Given the description of an element on the screen output the (x, y) to click on. 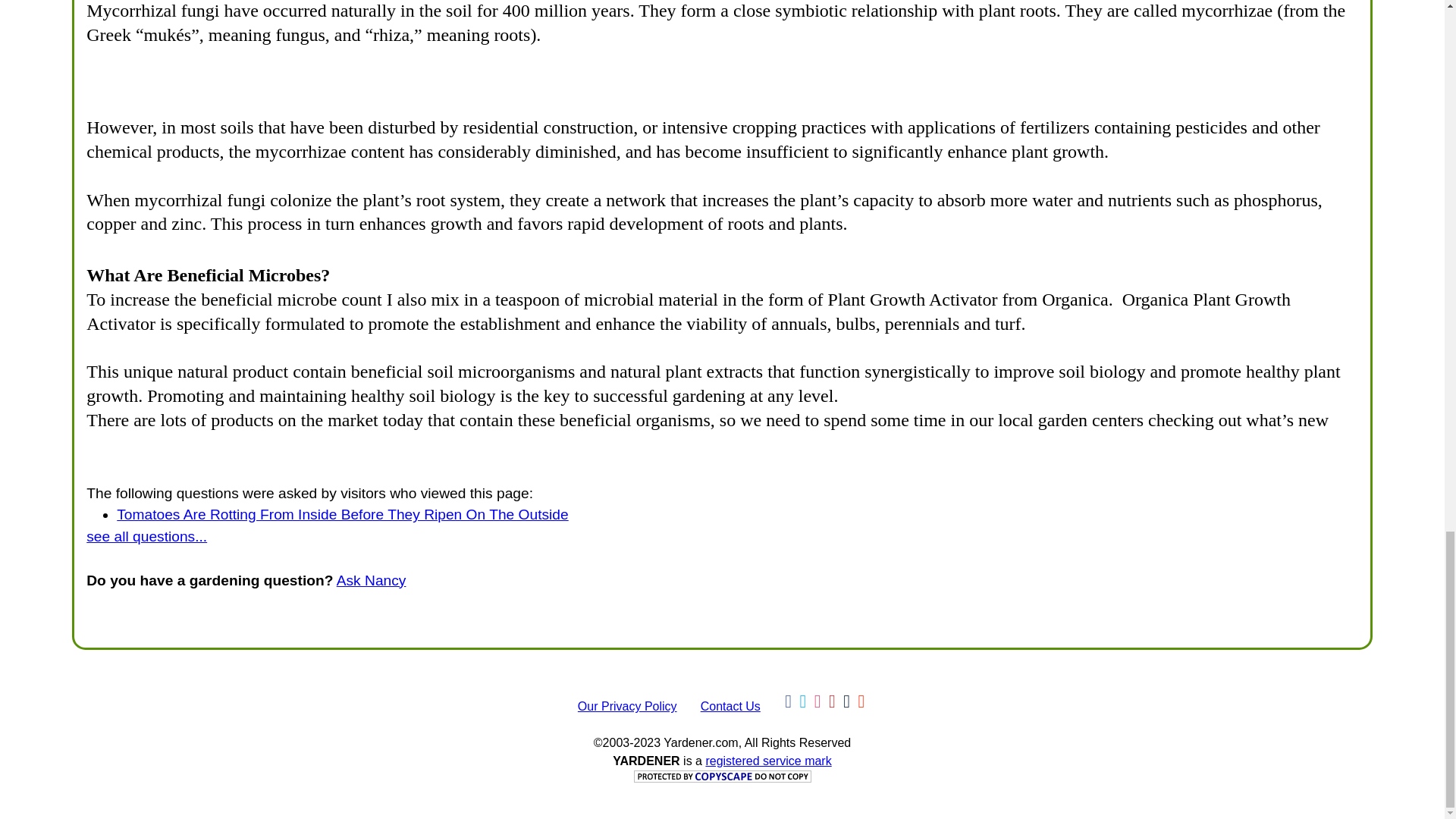
Our Privacy Policy (627, 706)
registered service mark (767, 760)
see all questions... (145, 536)
Ask Nancy (371, 580)
Contact Us (730, 706)
